Given the description of an element on the screen output the (x, y) to click on. 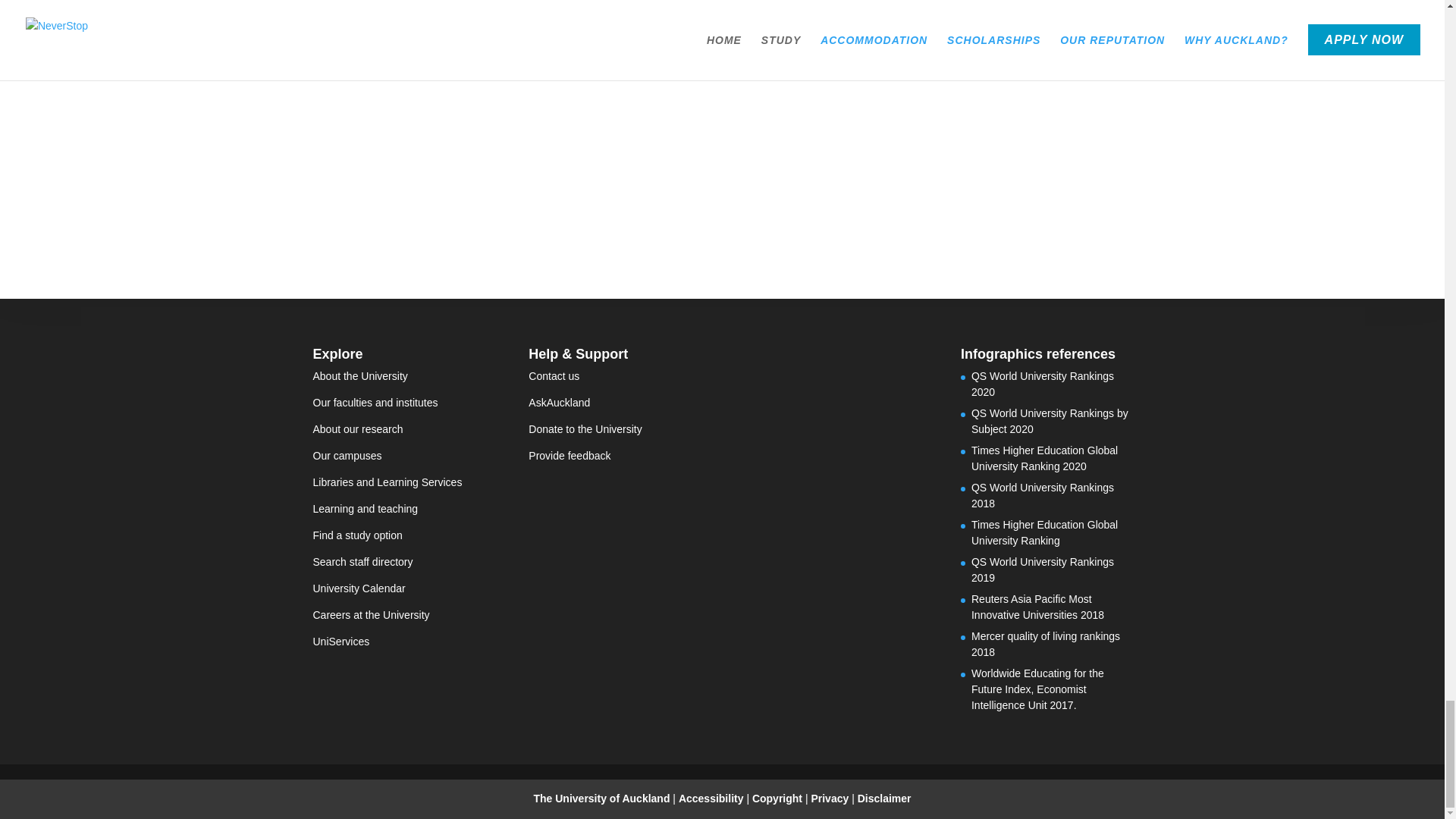
Libraries and Learning Services (387, 481)
AskAuckland (558, 402)
Learning and teaching (365, 508)
Explore World Rankings (842, 49)
About our research (358, 428)
Copyright (778, 798)
Careers at the University (371, 614)
University Calendar (358, 588)
Our campuses (347, 455)
Donate to the University (585, 428)
